Given the description of an element on the screen output the (x, y) to click on. 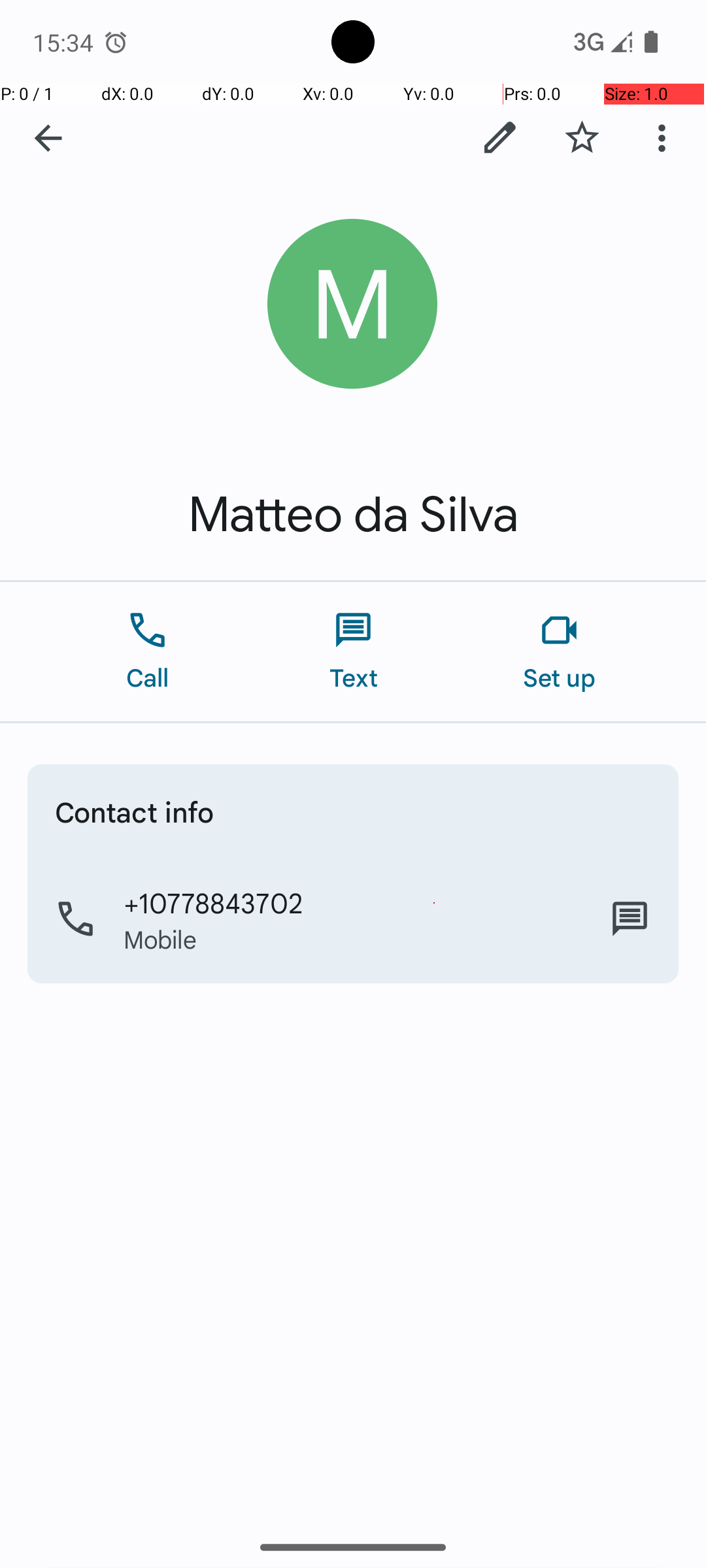
Set up Element type: android.widget.TextView (559, 651)
Matteo da Silva Element type: android.widget.TextView (352, 514)
Call Mobile +10778843702 Element type: android.widget.RelativeLayout (352, 919)
+10778843702 Element type: android.widget.TextView (212, 901)
Text Mobile +10778843702 Element type: android.widget.Button (629, 919)
